Given the description of an element on the screen output the (x, y) to click on. 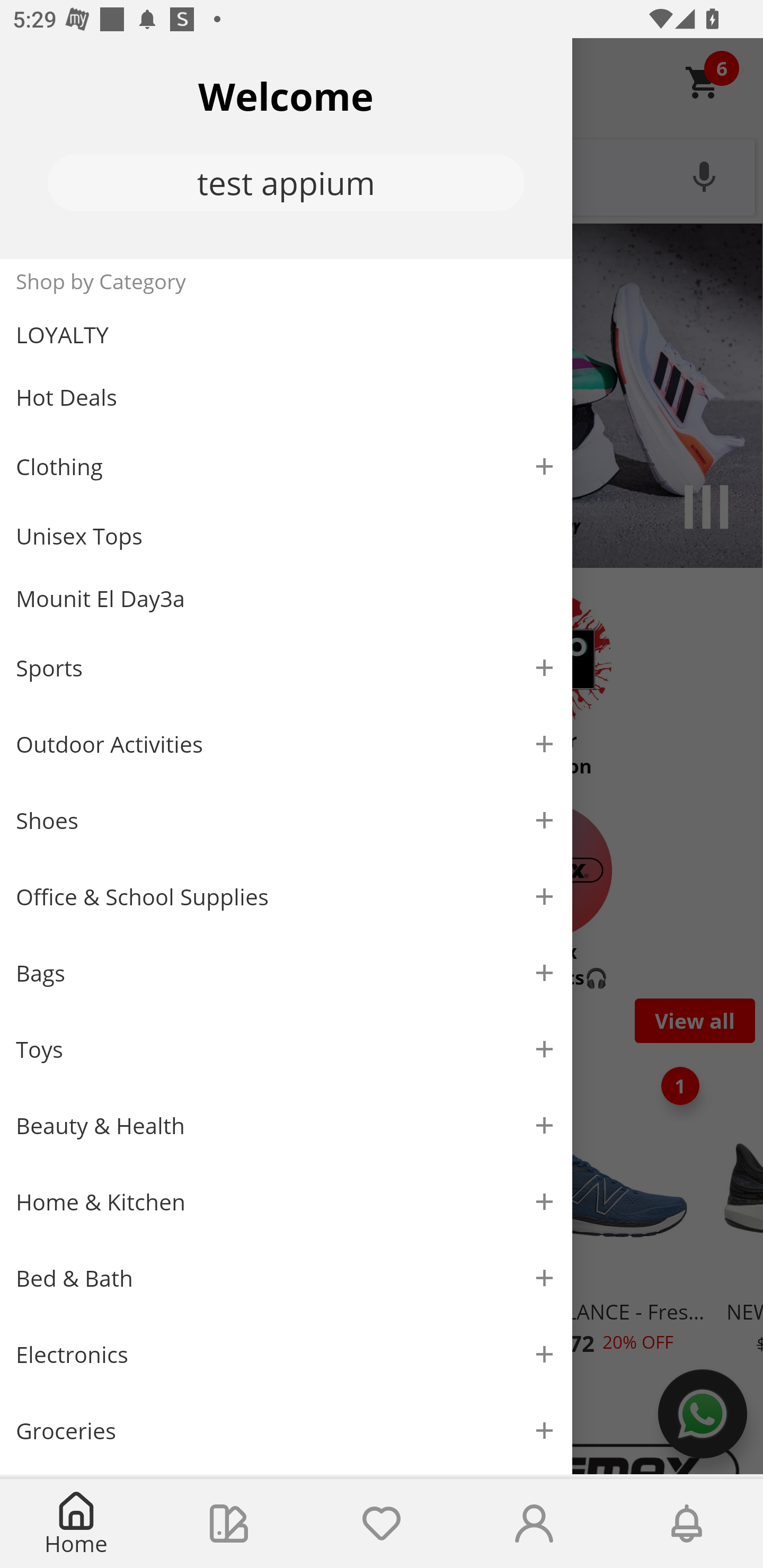
Welcome test appium (286, 147)
What are you looking for? (381, 175)
LOYALTY (286, 334)
Hot Deals (286, 396)
Clothing (286, 466)
Unisex Tops (286, 535)
Mounit El Day3a (286, 598)
Sports (286, 667)
Outdoor Activities (286, 743)
Shoes (286, 820)
Office & School Supplies (286, 896)
Bags (286, 972)
Toys (286, 1049)
Beauty & Health (286, 1125)
Home & Kitchen (286, 1201)
Bed & Bath (286, 1278)
Electronics (286, 1354)
Groceries (286, 1430)
Collections (228, 1523)
Wishlist (381, 1523)
Account (533, 1523)
Notifications (686, 1523)
